Given the description of an element on the screen output the (x, y) to click on. 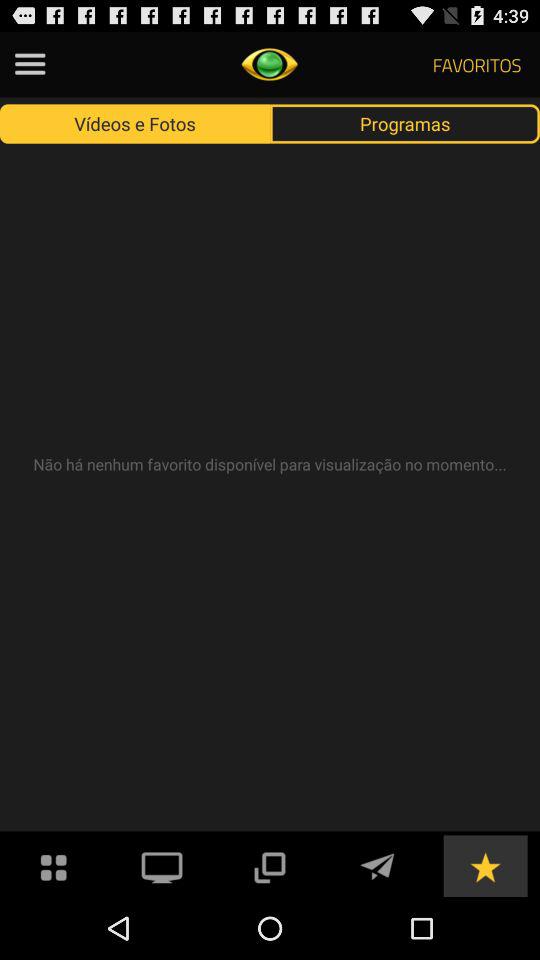
this option menu button (29, 64)
